Given the description of an element on the screen output the (x, y) to click on. 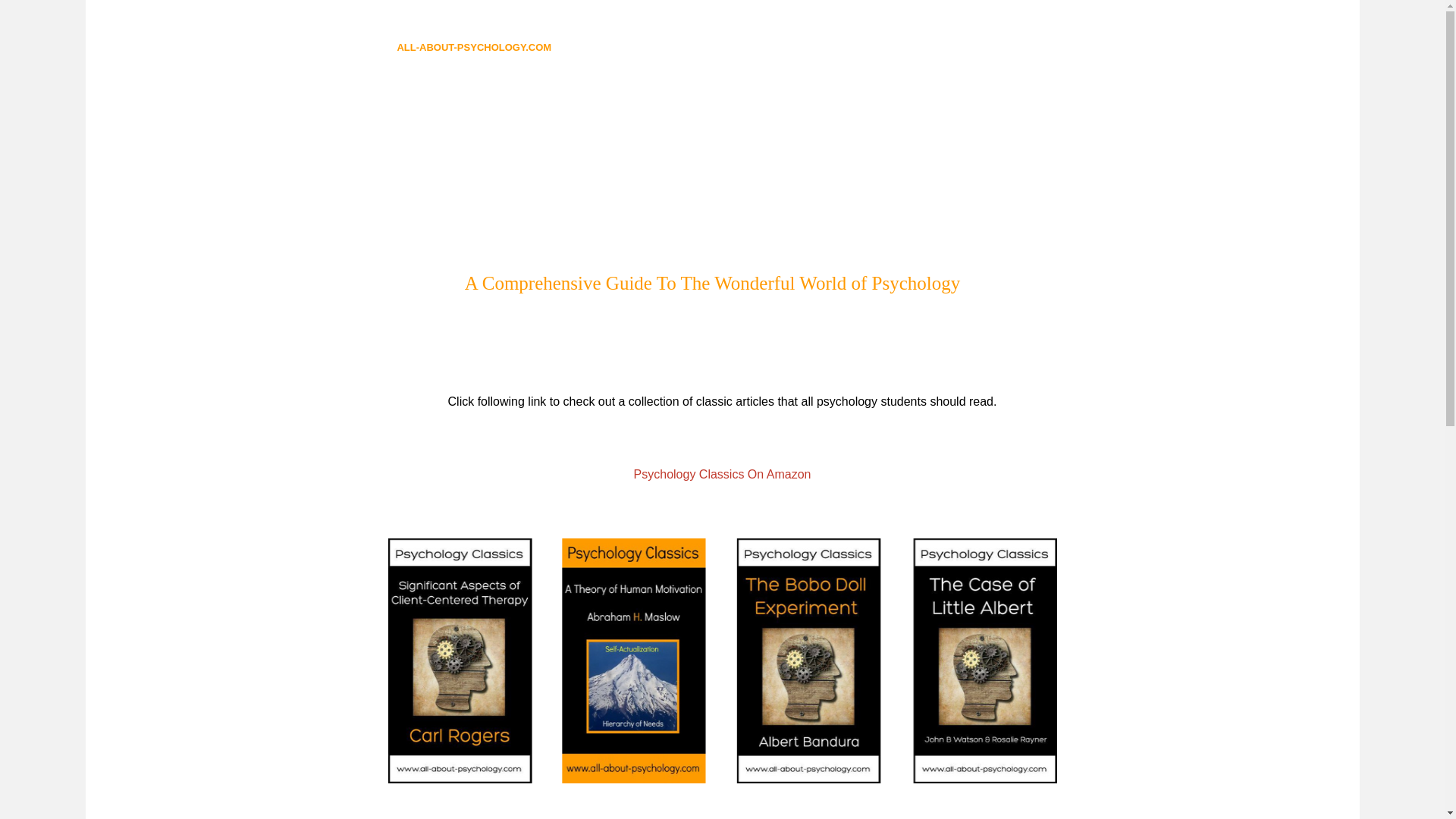
Psychology Classics On Amazon (721, 473)
HOME (588, 47)
ALL-ABOUT-PSYCHOLOGY.COM (473, 47)
